Given the description of an element on the screen output the (x, y) to click on. 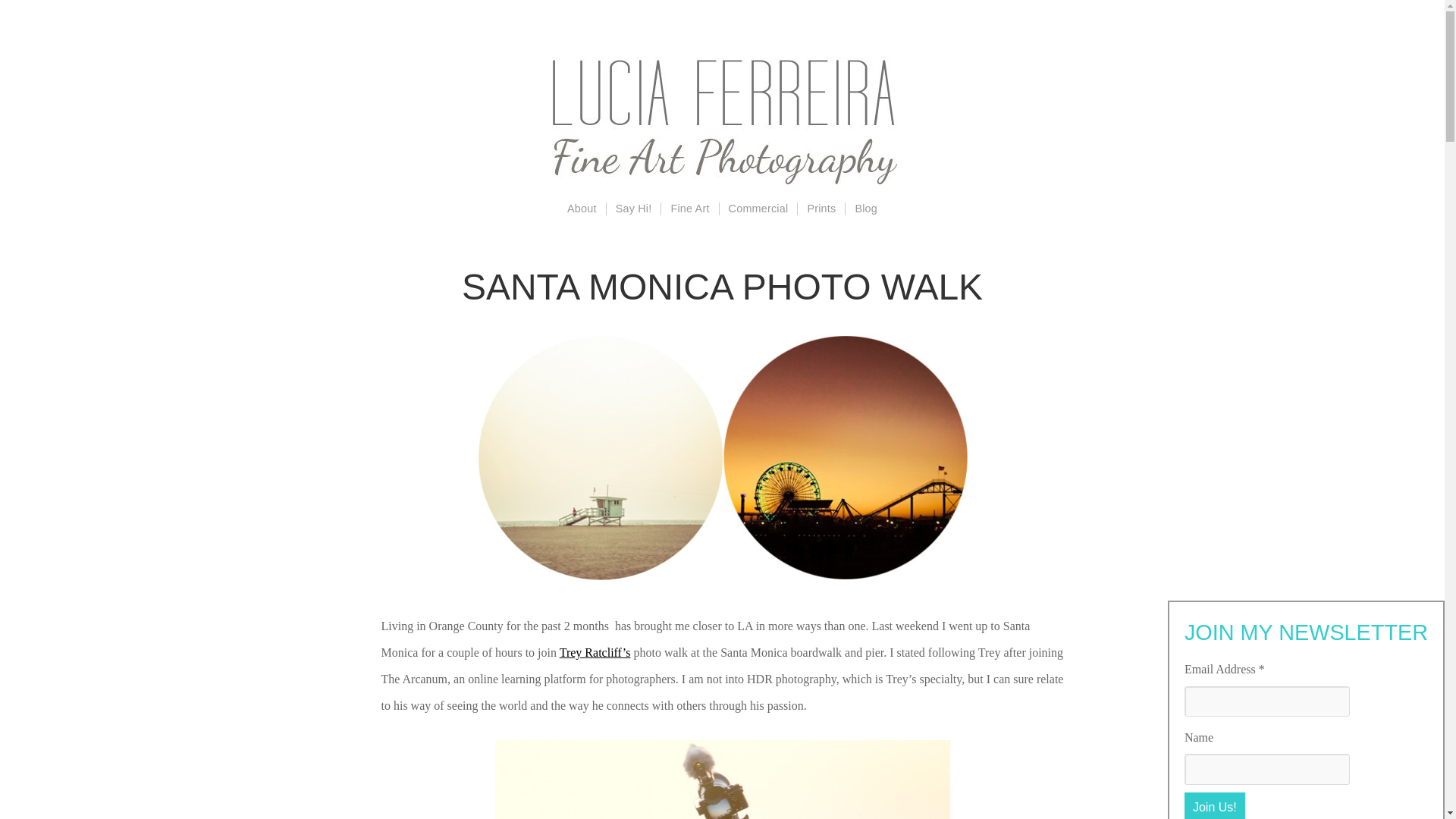
Fine Art (689, 208)
Home (721, 120)
Say Hi! (633, 208)
Lulight (721, 120)
Join Us! (1214, 805)
Commercial (758, 208)
Blog (865, 208)
Join Us! (1214, 805)
About (581, 208)
Prints (820, 208)
